Given the description of an element on the screen output the (x, y) to click on. 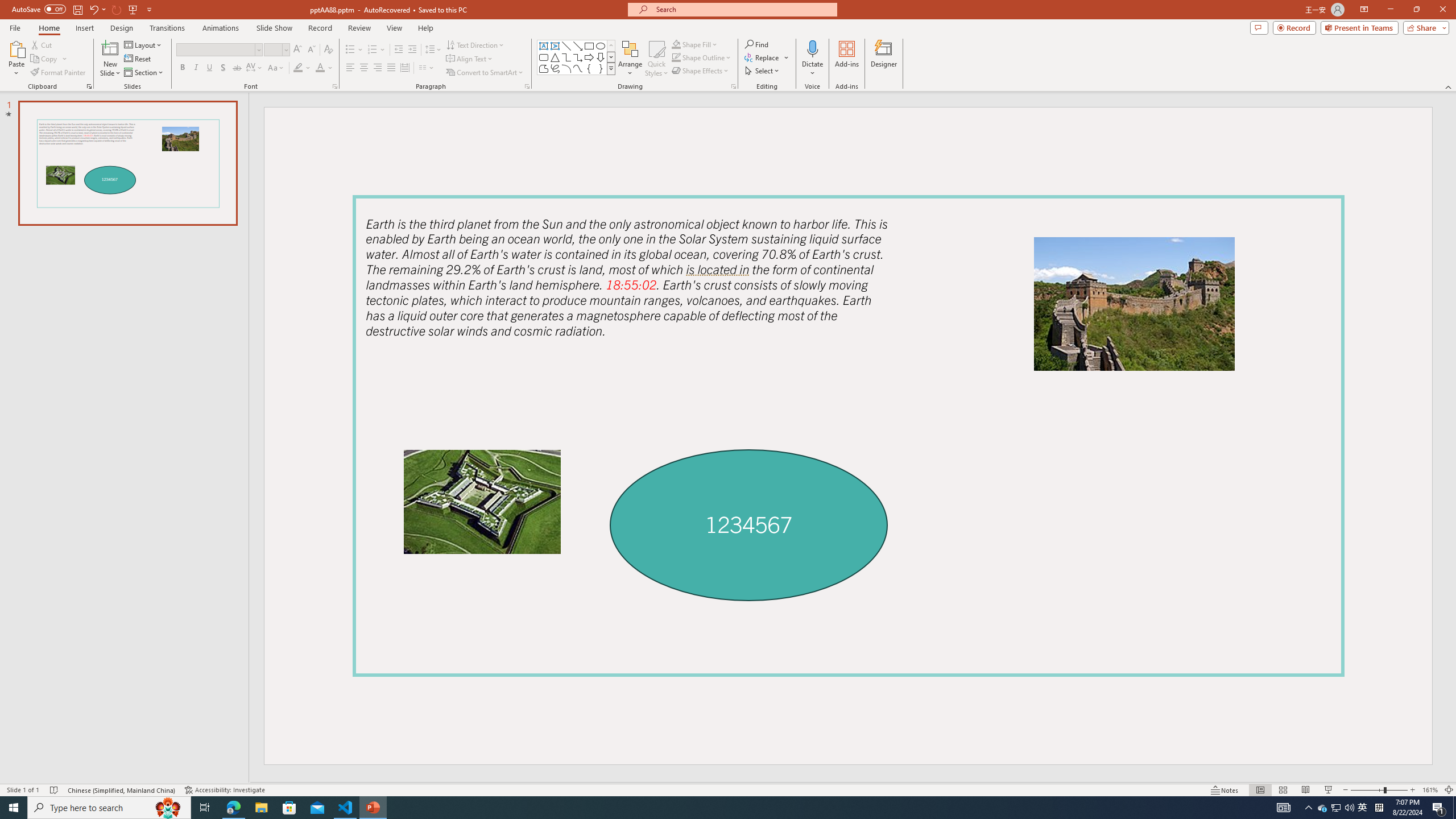
Zoom 161% (1430, 790)
